Given the description of an element on the screen output the (x, y) to click on. 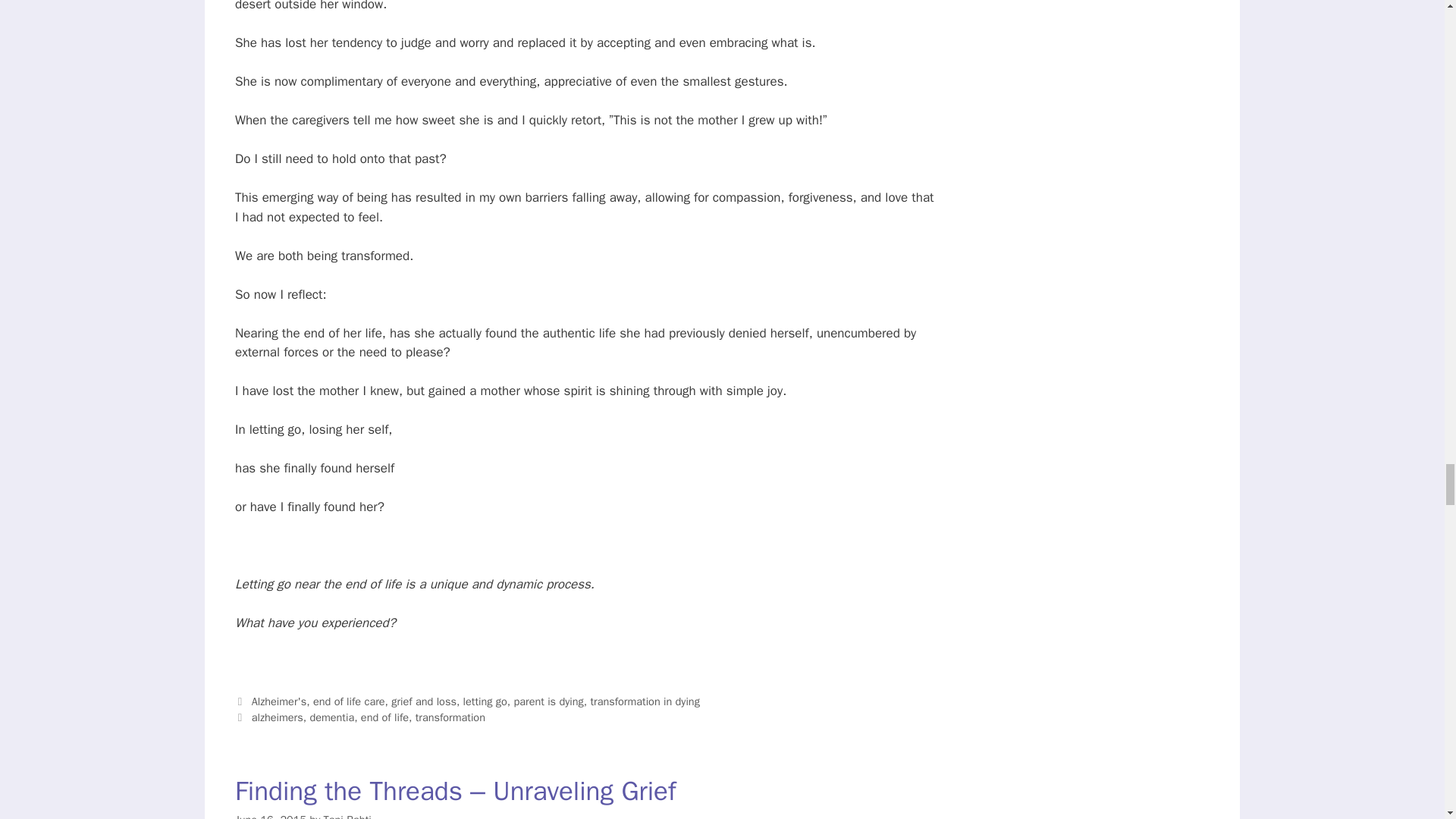
View all posts by Tani Bahti (347, 816)
